Given the description of an element on the screen output the (x, y) to click on. 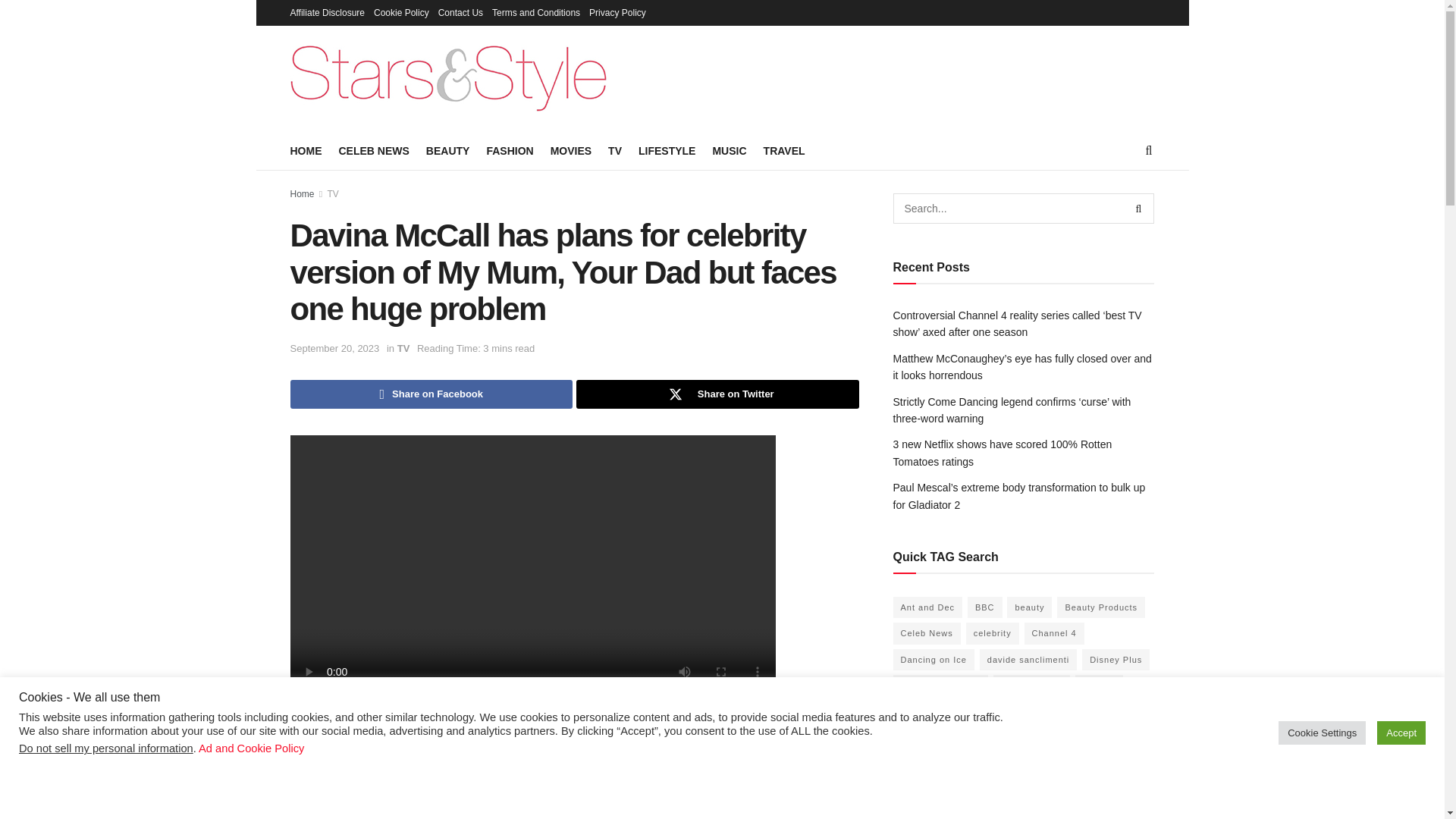
MOVIES (570, 150)
Contact Us (460, 12)
Davina McCall (700, 728)
September 20, 2023 (333, 348)
MUSIC (728, 150)
Affiliate Disclosure (326, 12)
LIFESTYLE (667, 150)
Share on Facebook (430, 394)
BEAUTY (448, 150)
Privacy Policy (617, 12)
